Given the description of an element on the screen output the (x, y) to click on. 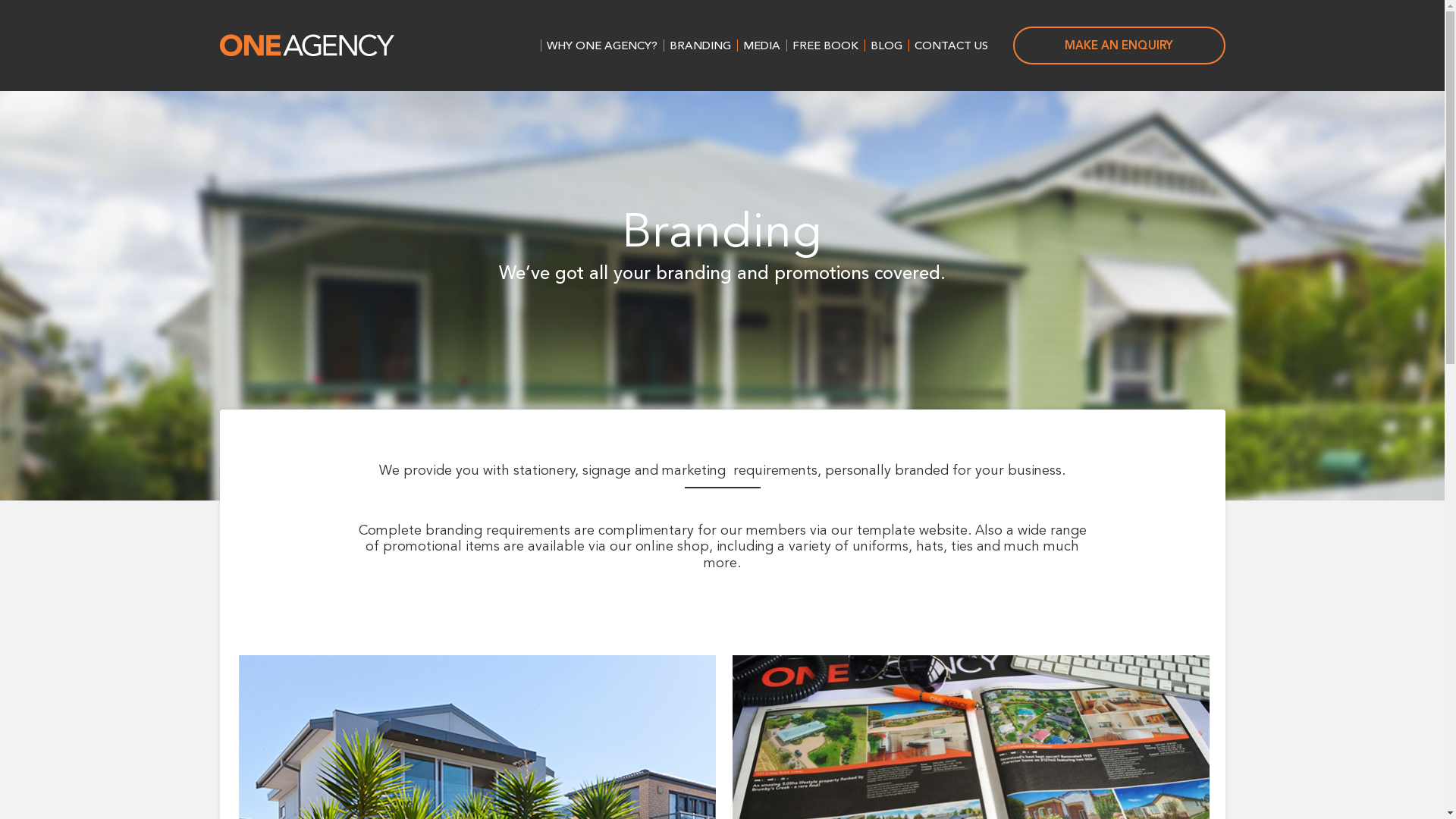
MEDIA Element type: text (761, 45)
MAKE AN ENQUIRY Element type: text (1119, 45)
FREE BOOK Element type: text (824, 45)
WHY ONE AGENCY? Element type: text (600, 45)
BRANDING Element type: text (699, 45)
One Agency Element type: text (306, 45)
BLOG Element type: text (886, 45)
CONTACT US Element type: text (951, 45)
